Given the description of an element on the screen output the (x, y) to click on. 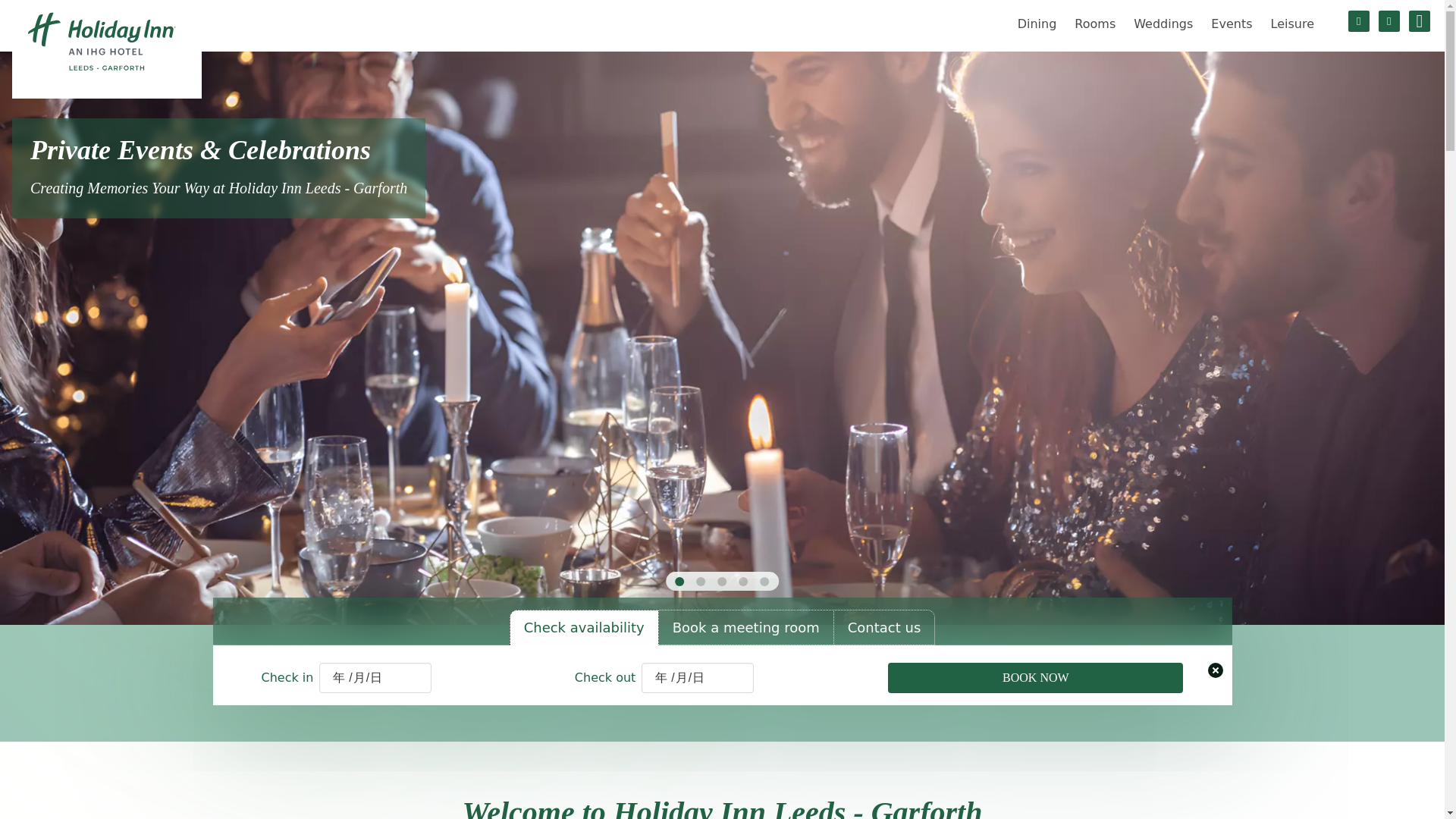
Contact us (884, 627)
Rooms (1094, 24)
Creating Memories Your Way at Holiday Inn Leeds - Garforth (218, 187)
Check availability (584, 627)
Weddings (1163, 24)
Book Now (1035, 677)
Book a meeting room (746, 627)
Book Now (1035, 677)
Leisure (1292, 24)
Events (1231, 24)
Dining (1037, 24)
